Given the description of an element on the screen output the (x, y) to click on. 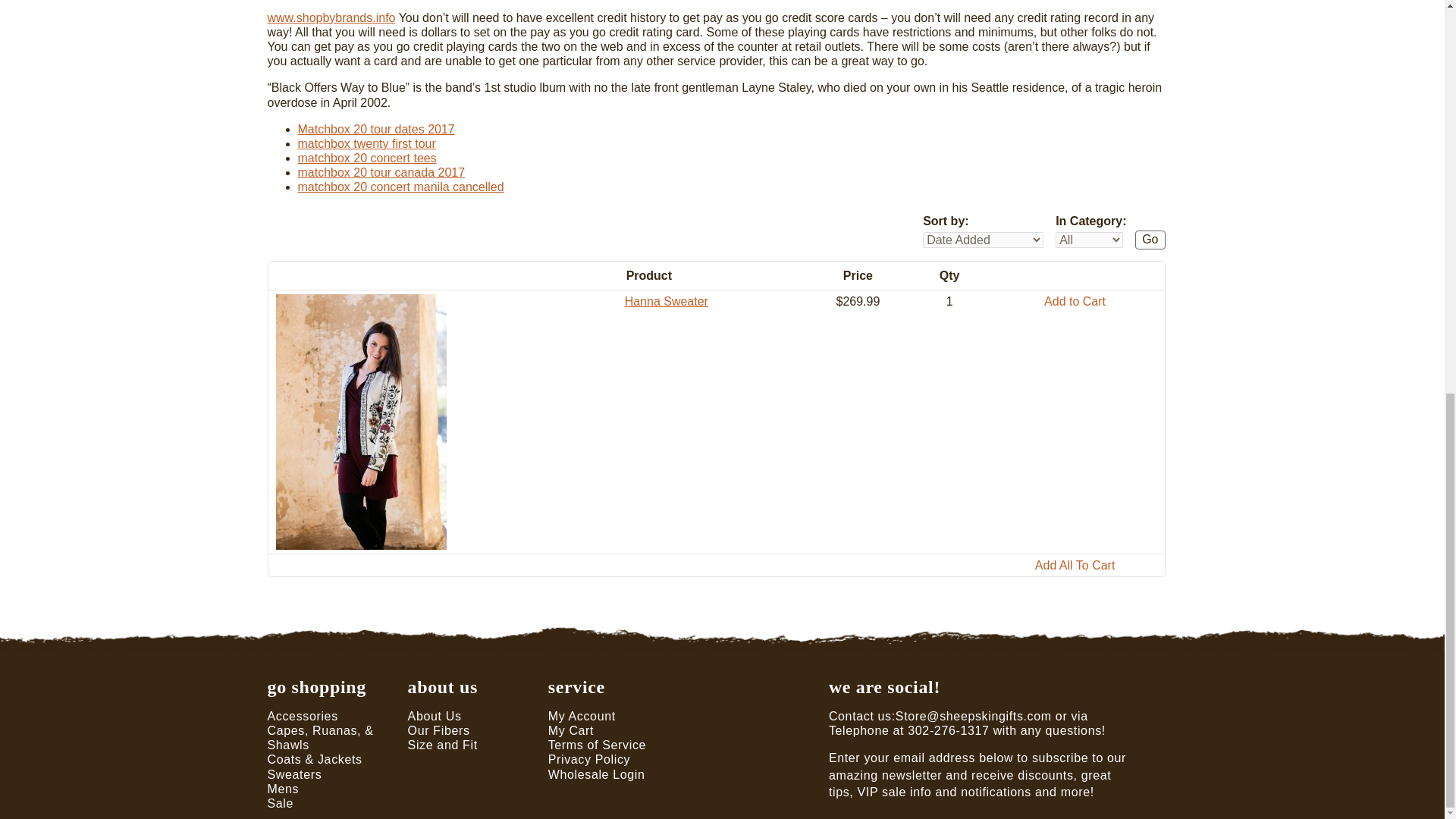
matchbox 20 tour canada 2017 (380, 172)
About Us (434, 716)
Matchbox 20 tour dates 2017 (375, 128)
matchbox twenty first tour (366, 143)
Go (1149, 239)
Hanna Sweater (665, 300)
Go (1149, 239)
matchbox 20 concert manila cancelled (400, 186)
Sweaters (293, 774)
www.shopbybrands.info (330, 17)
